Given the description of an element on the screen output the (x, y) to click on. 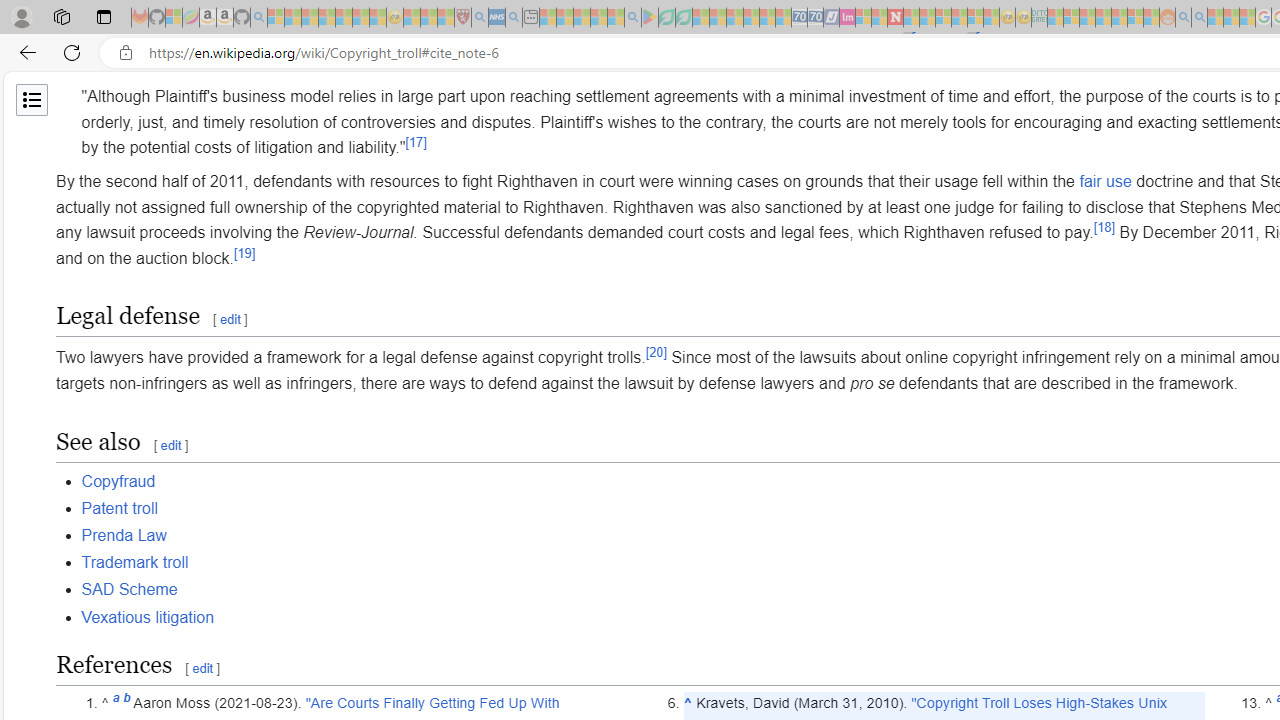
Copyfraud (118, 481)
Microsoft Start - Sleeping (1215, 17)
Utah sues federal government - Search - Sleeping (1199, 17)
Bluey: Let's Play! - Apps on Google Play - Sleeping (649, 17)
Jobs - lastminute.com Investor Portal - Sleeping (847, 17)
Vexatious litigation (147, 616)
DITOGAMES AG Imprint - Sleeping (1039, 17)
New Report Confirms 2023 Was Record Hot | Watch - Sleeping (343, 17)
